Given the description of an element on the screen output the (x, y) to click on. 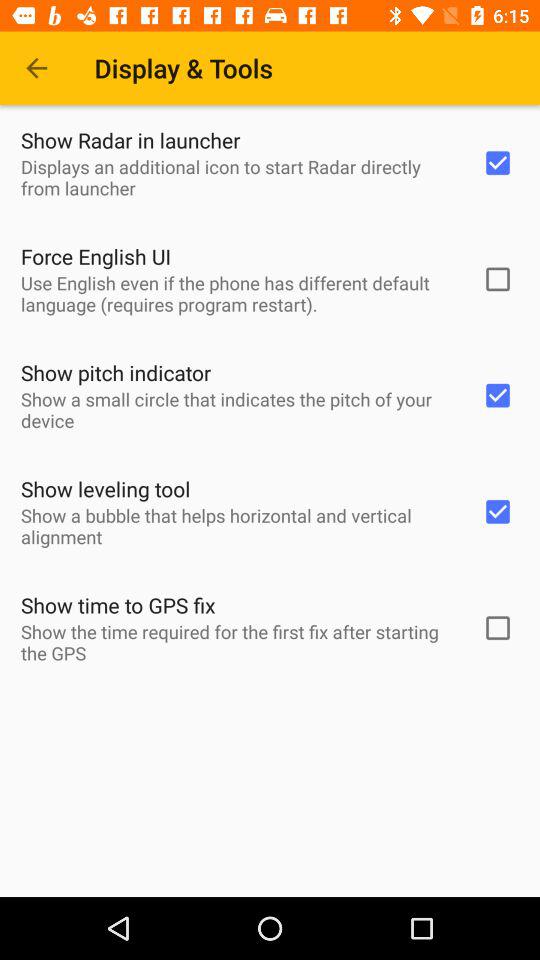
jump to show radar in (130, 139)
